Given the description of an element on the screen output the (x, y) to click on. 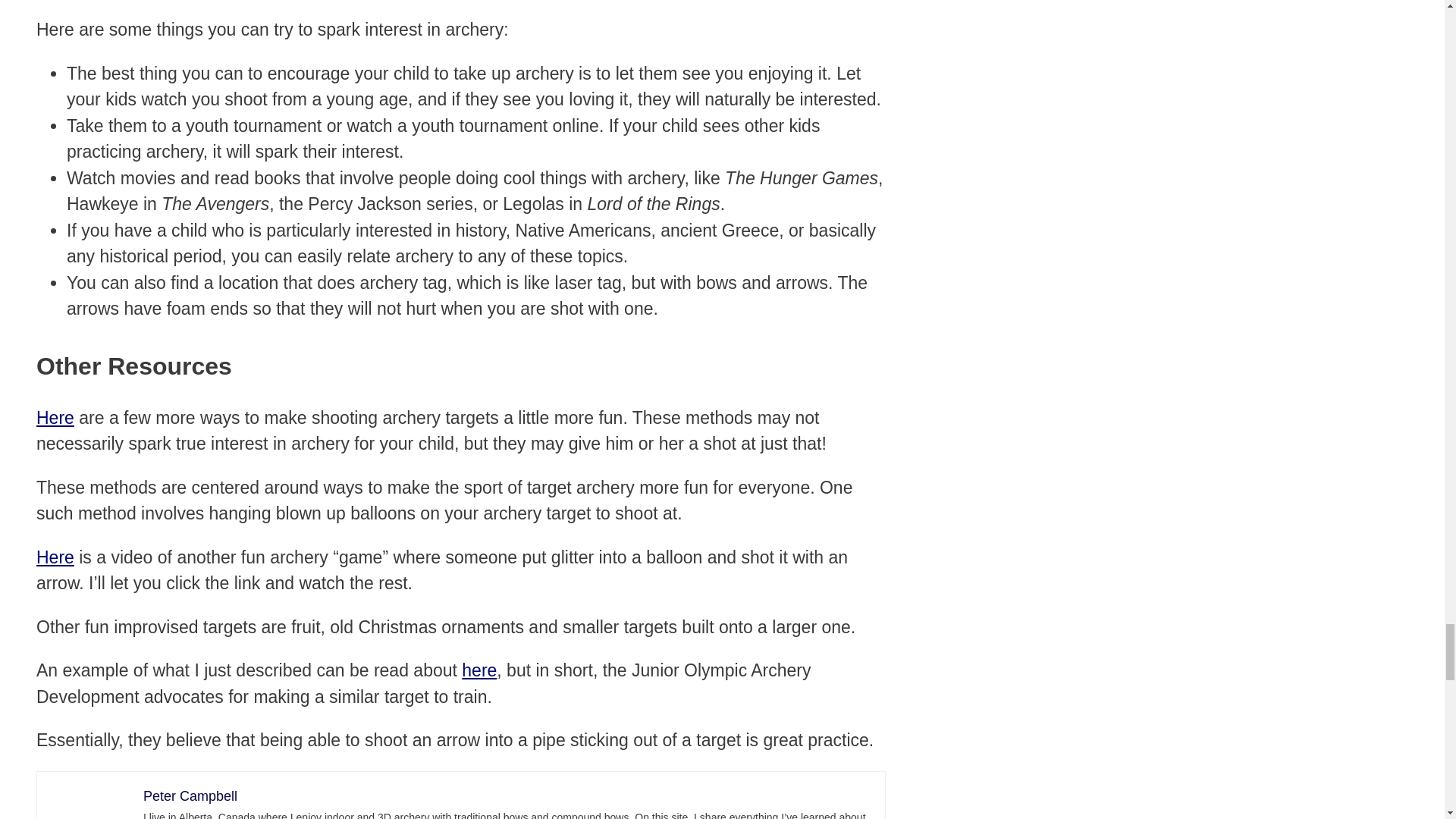
here (478, 670)
Here (55, 557)
Here (55, 417)
Peter Campbell (189, 795)
